Given the description of an element on the screen output the (x, y) to click on. 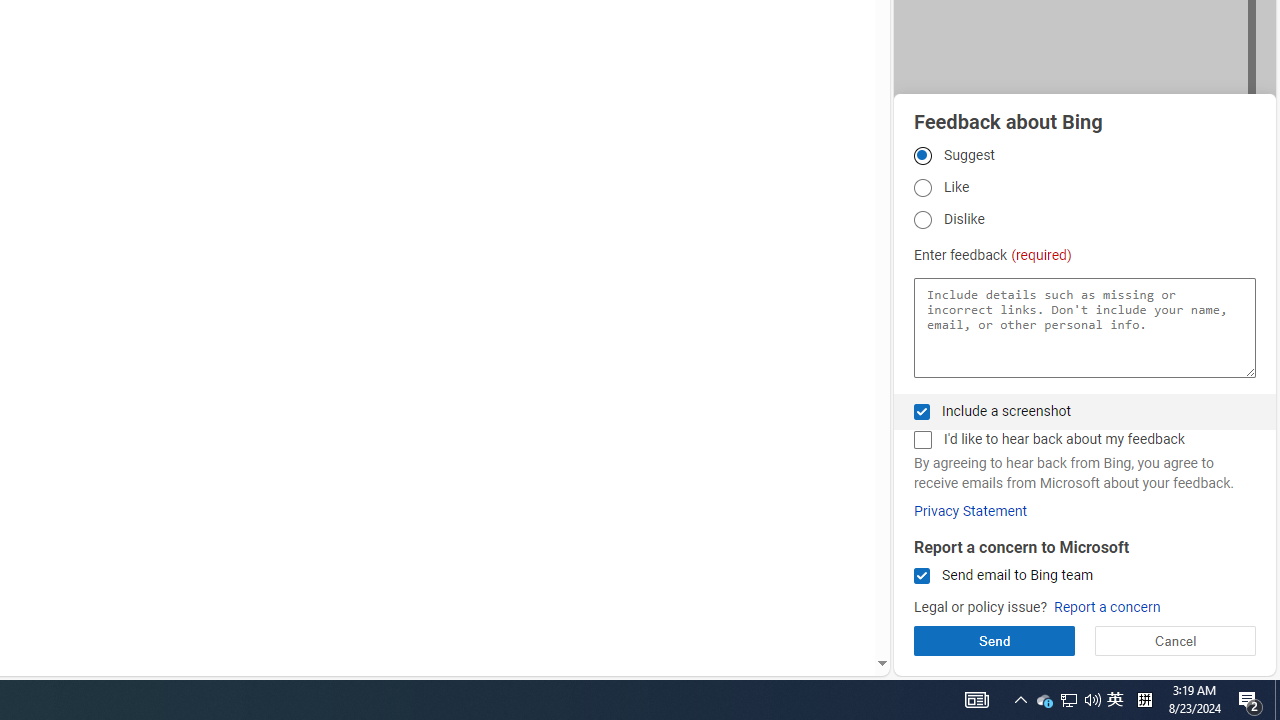
Send email to Bing team (921, 575)
I'd like to hear back about my feedback (922, 440)
Include a screenshot (921, 411)
Privacy Statement (970, 511)
Report a concern (1106, 607)
Send (994, 640)
Cancel (1174, 640)
Like (922, 188)
Suggest (922, 155)
